Given the description of an element on the screen output the (x, y) to click on. 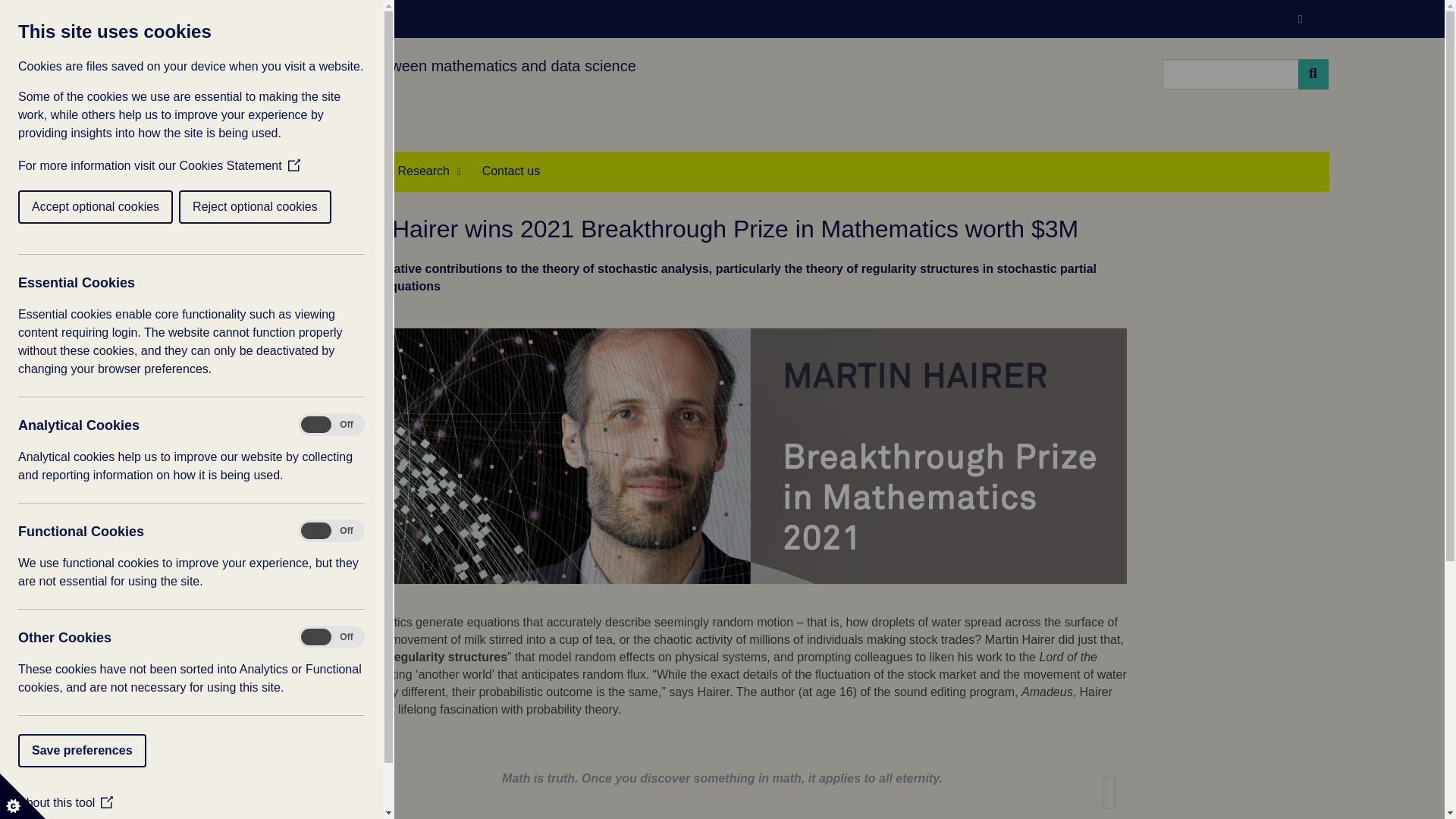
Papers and preprints (428, 171)
Save preferences (66, 750)
Events (352, 171)
Accept optional cookies (61, 206)
Contact us (510, 171)
People (282, 171)
Research (428, 171)
Enter the terms you wish to search for (1229, 73)
About us (155, 171)
Search (1312, 73)
All about DataSig (155, 171)
News (221, 171)
Reject optional cookies (225, 206)
